Given the description of an element on the screen output the (x, y) to click on. 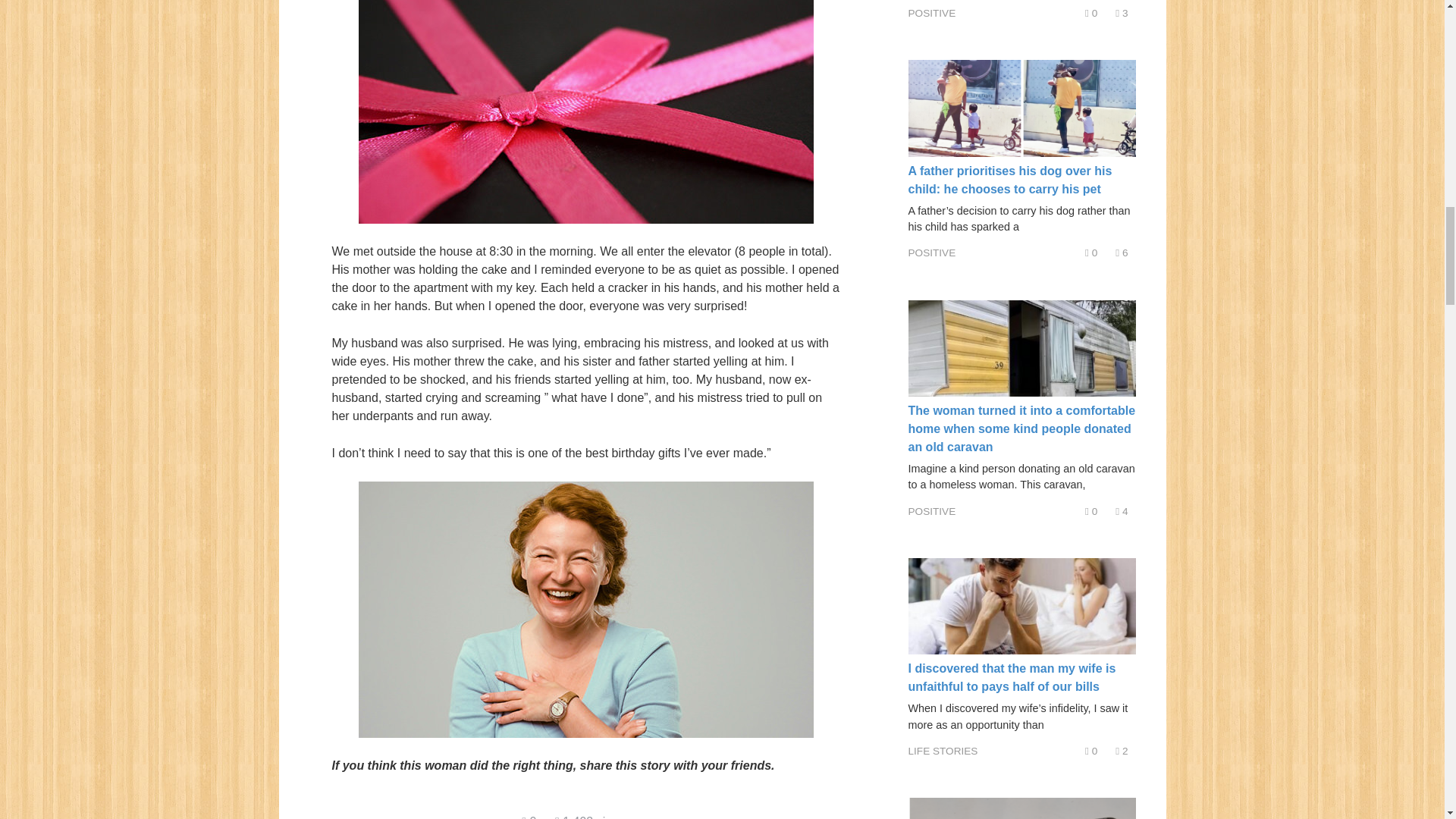
Comments (1090, 12)
Views (1120, 252)
Comments (1090, 750)
POSITIVE (932, 252)
Comments (1090, 511)
Views (1120, 511)
Comments (528, 816)
Comments (1090, 252)
POSITIVE (932, 12)
POSITIVE (932, 511)
Views (590, 816)
Views (1120, 750)
Views (1120, 12)
